Given the description of an element on the screen output the (x, y) to click on. 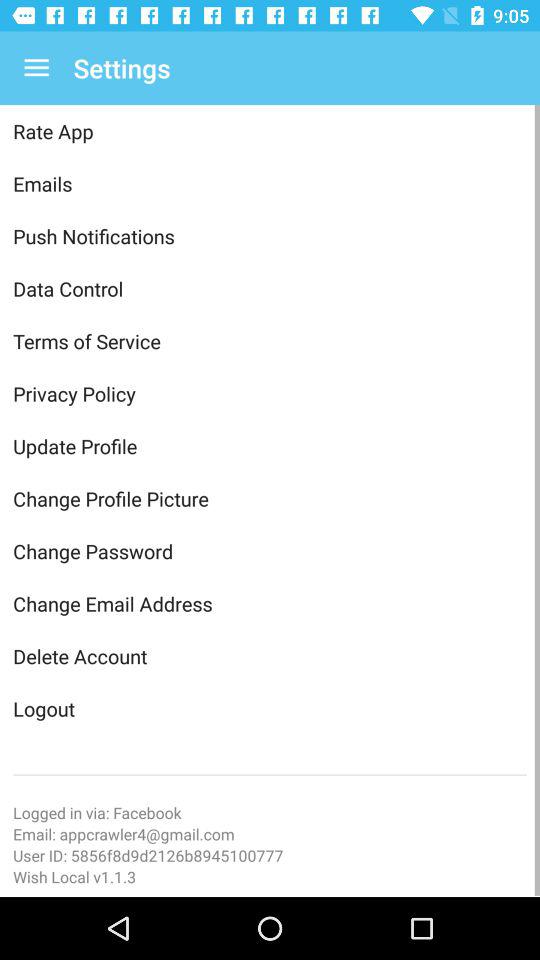
jump until emails item (269, 183)
